Given the description of an element on the screen output the (x, y) to click on. 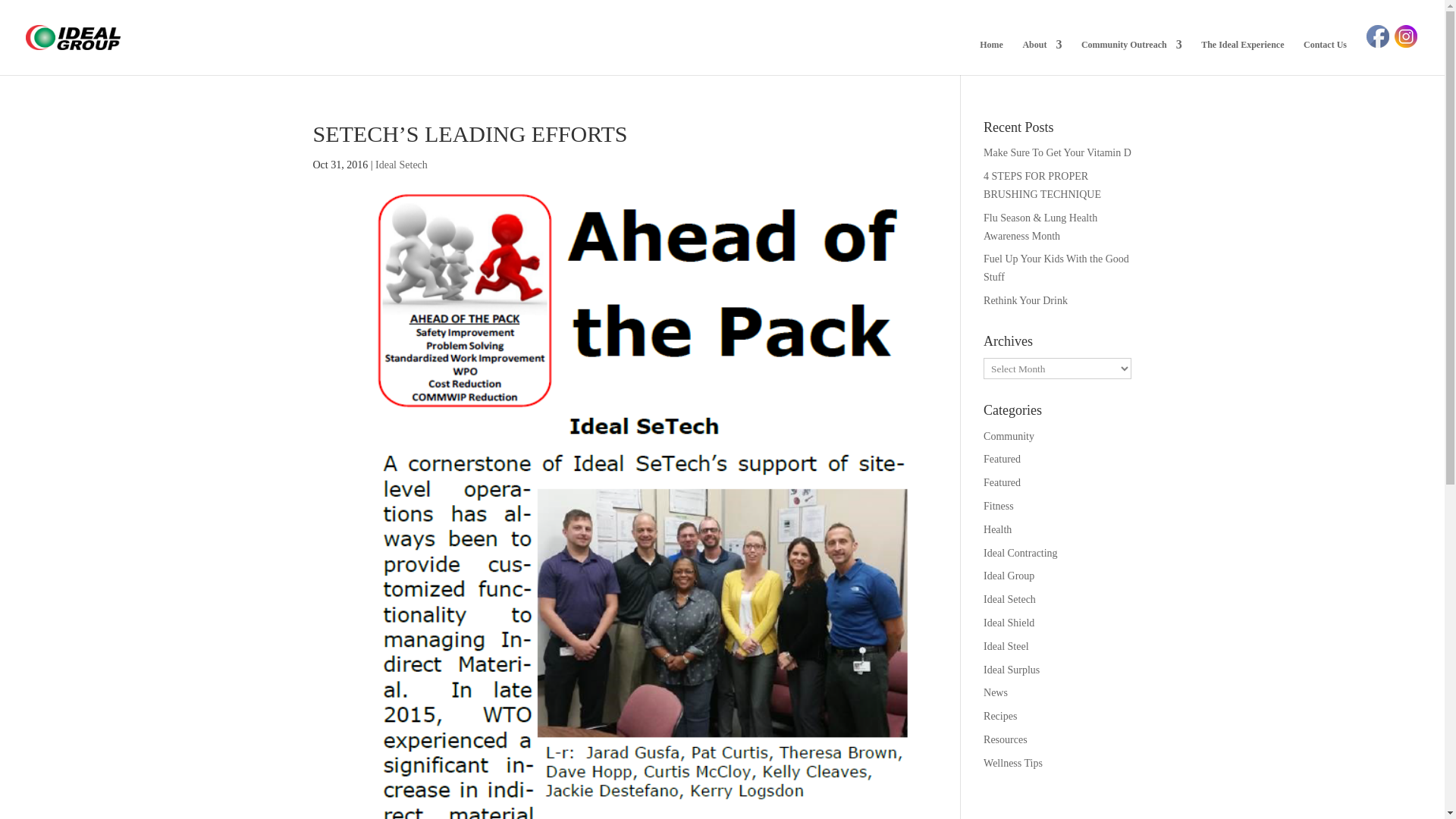
The Ideal Experience (1242, 57)
About (1041, 57)
Contact Us (1324, 57)
Community Outreach (1131, 57)
Ideal Setech (401, 164)
